Given the description of an element on the screen output the (x, y) to click on. 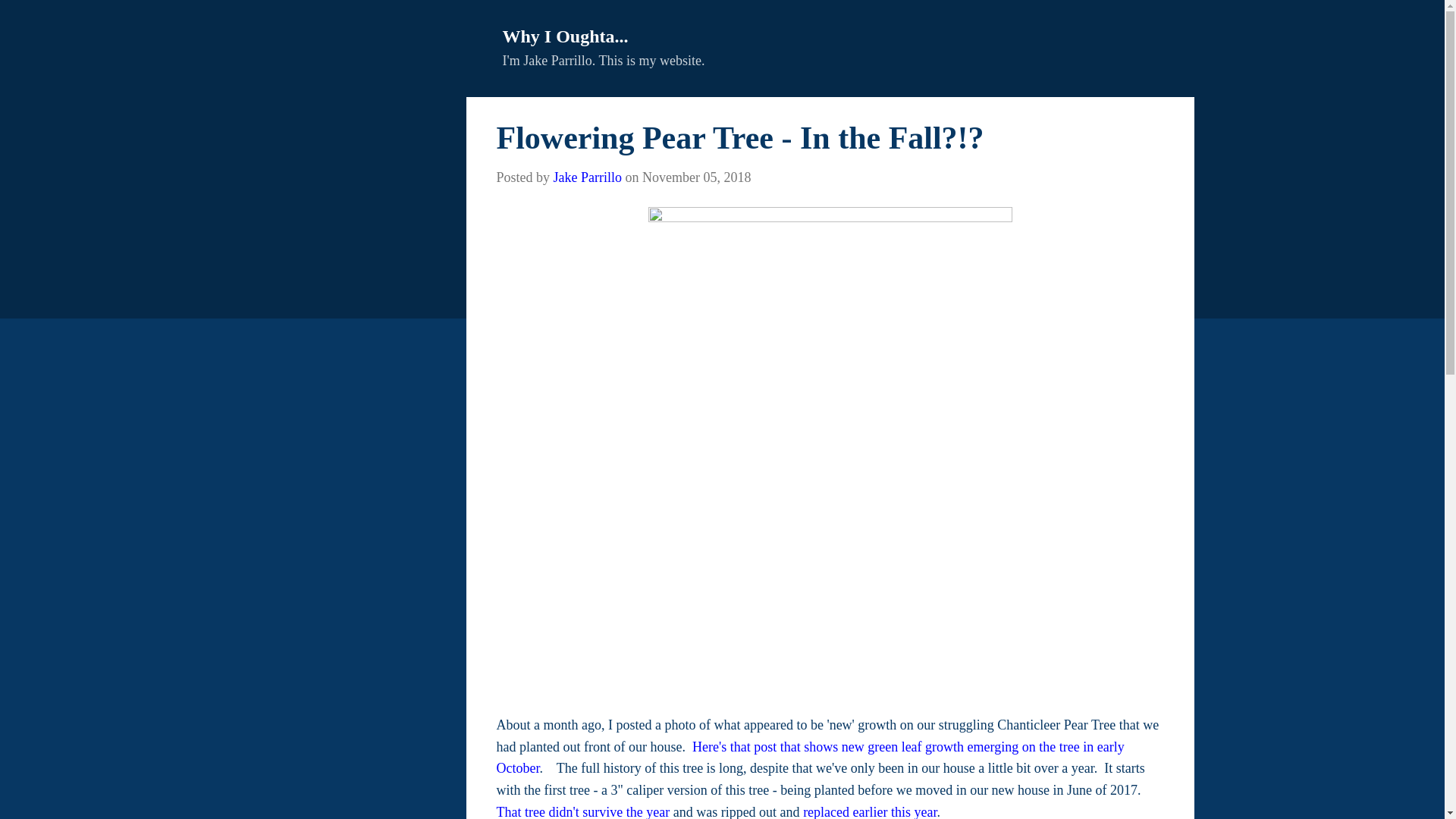
Jake Parrillo (587, 177)
author profile (587, 177)
permanent link (696, 177)
Why I Oughta... (564, 35)
replaced earlier this year (869, 811)
November 05, 2018 (696, 177)
That tree didn't survive the year (582, 811)
Search (34, 18)
